Given the description of an element on the screen output the (x, y) to click on. 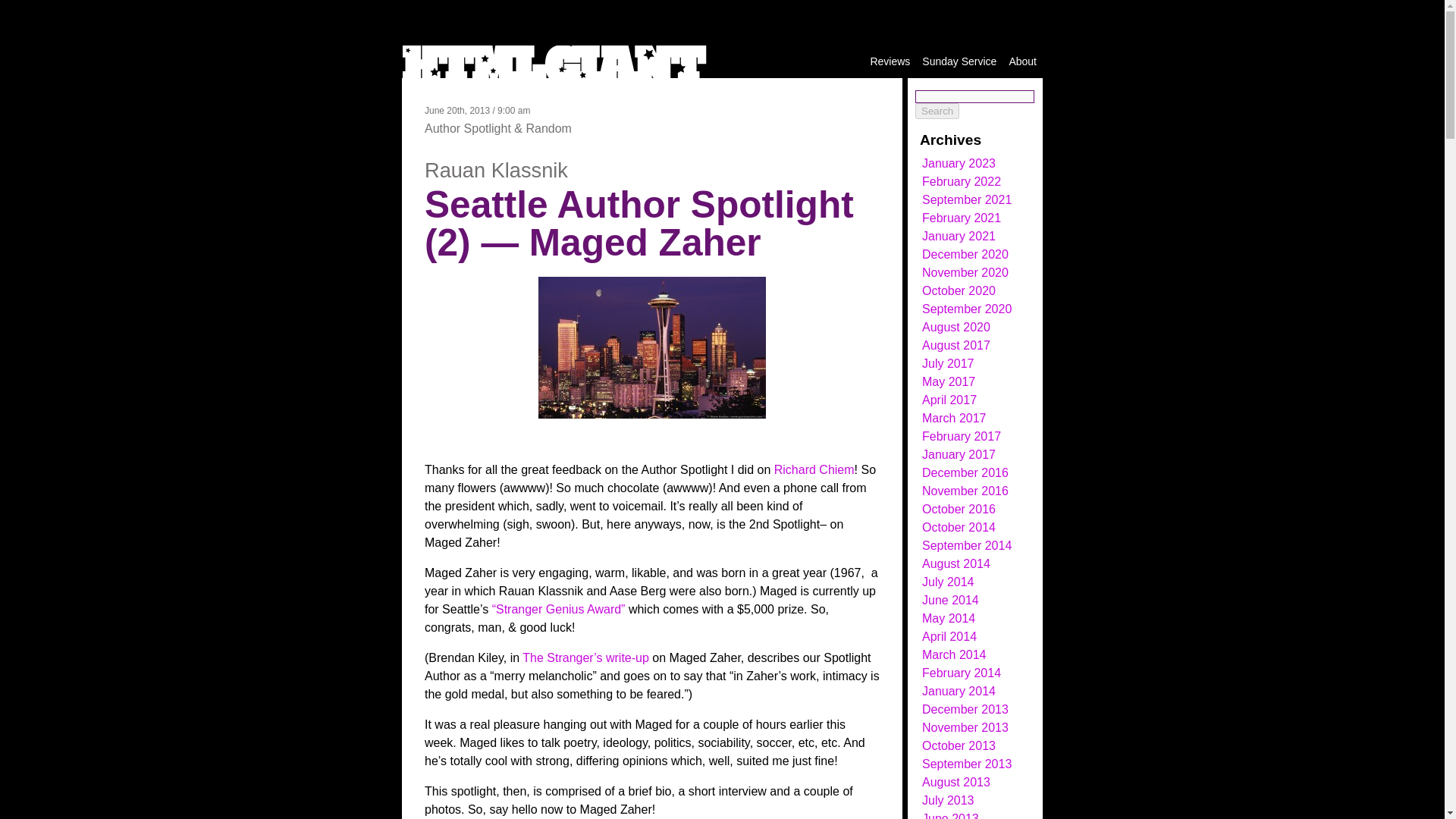
Sunday Service (958, 61)
Reviews (889, 61)
Rauan Klassnik (496, 169)
Search (937, 110)
Posts by Rauan Klassnik (496, 169)
Richard Chiem (814, 469)
About (1022, 61)
Random (547, 128)
Author Spotlight (468, 128)
